Given the description of an element on the screen output the (x, y) to click on. 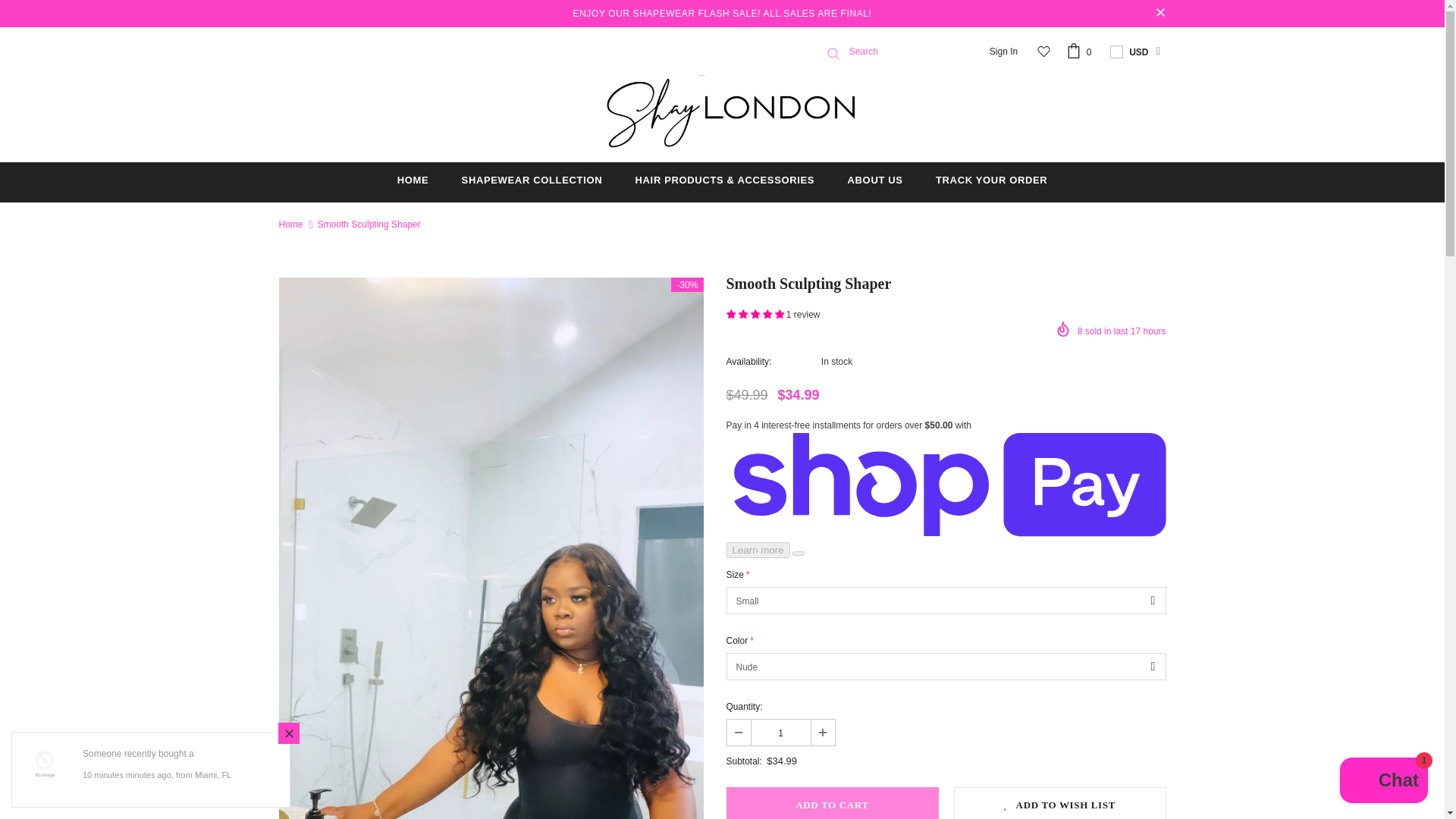
Sign In (1003, 51)
Home (290, 224)
close (1160, 13)
1 (780, 732)
ABOUT US (874, 182)
SHAPEWEAR COLLECTION (531, 182)
0 (1080, 51)
Add to Cart (832, 803)
TRACK YOUR ORDER (991, 182)
